Given the description of an element on the screen output the (x, y) to click on. 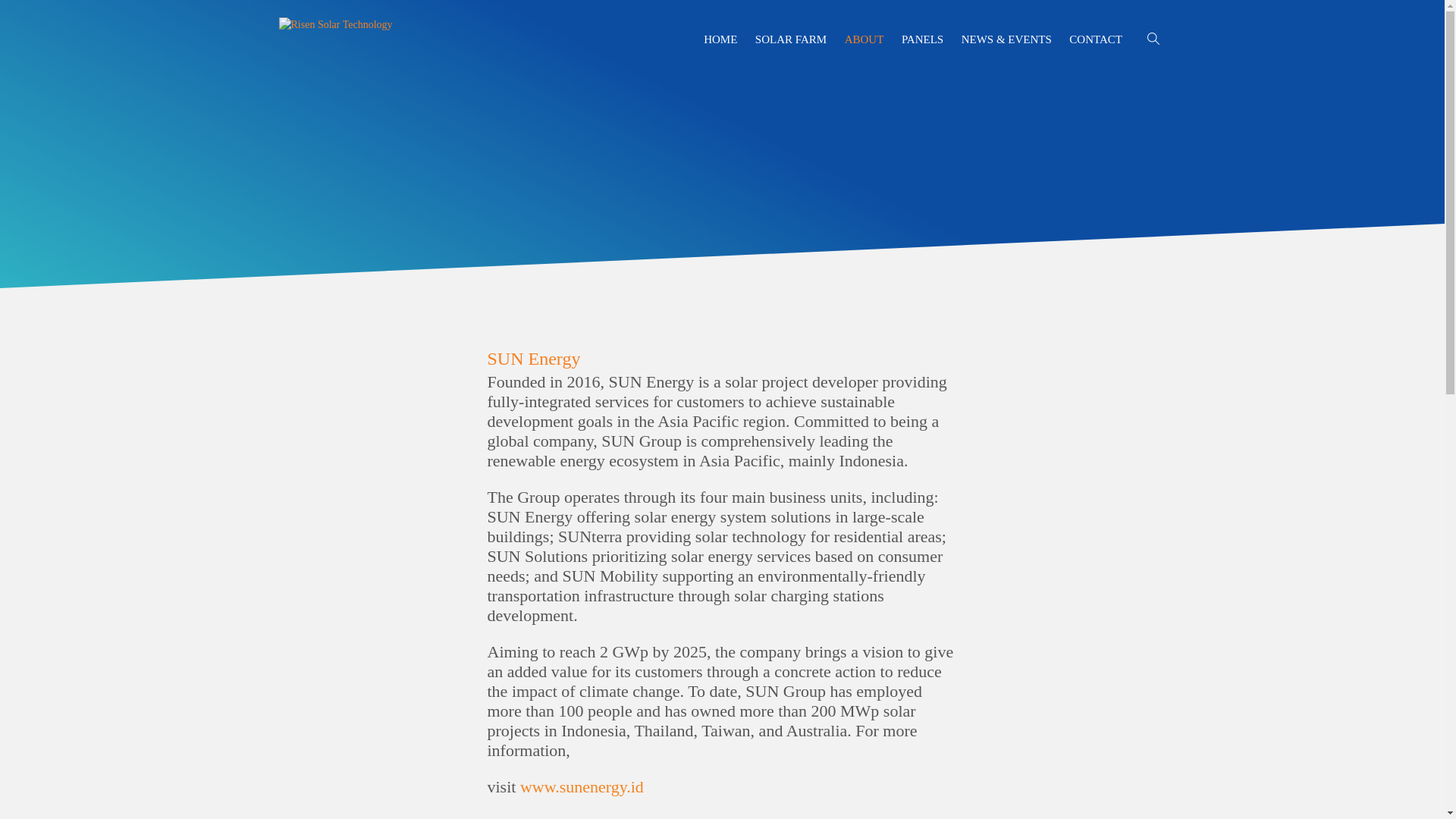
www.sunenergy.id Element type: text (581, 786)
HOME Element type: text (720, 39)
NEWS & EVENTS Element type: text (1006, 39)
PANELS Element type: text (922, 39)
SOLAR FARM Element type: text (790, 39)
ABOUT Element type: text (864, 39)
CONTACT Element type: text (1095, 39)
